Given the description of an element on the screen output the (x, y) to click on. 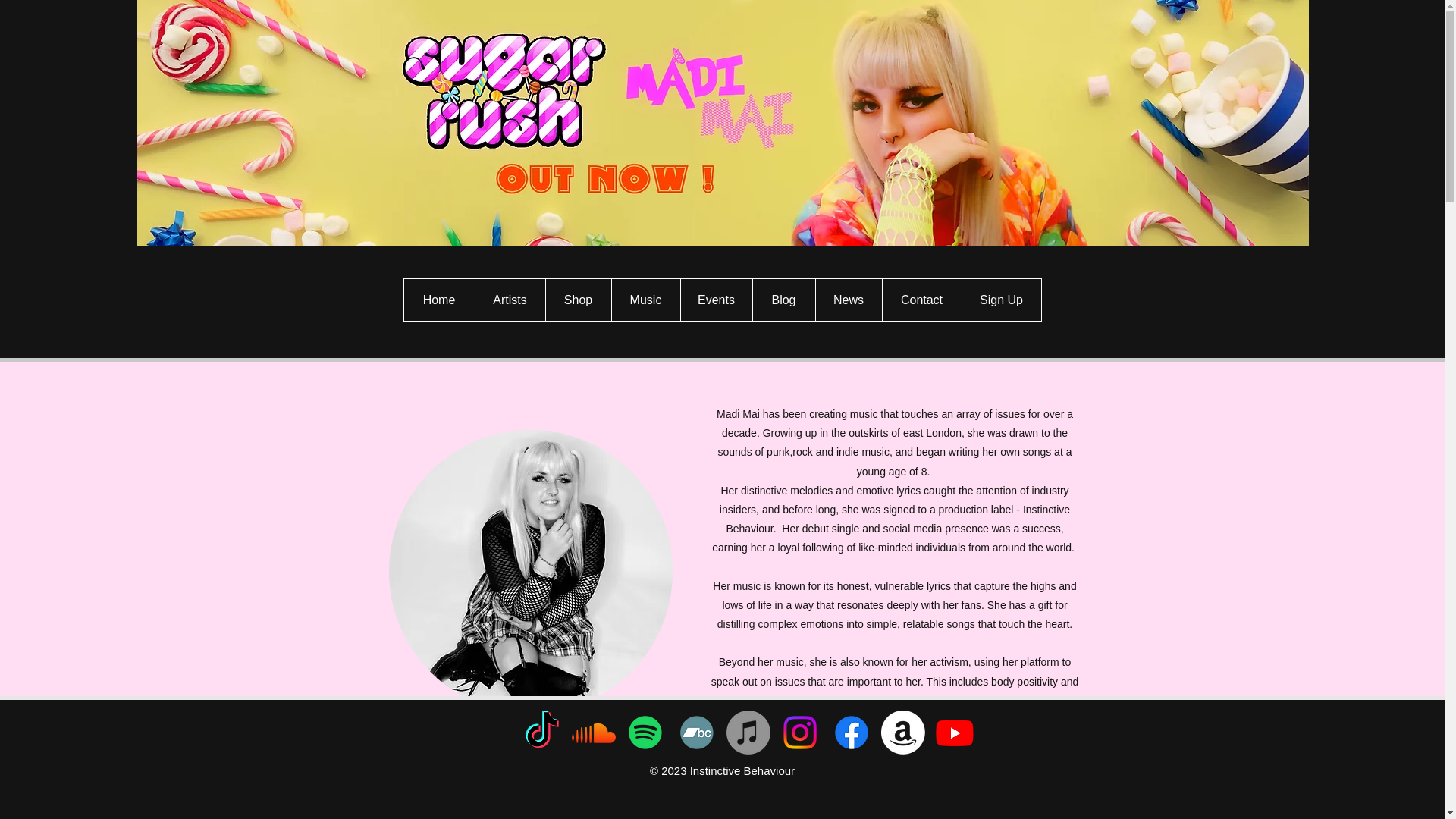
Blog (783, 300)
News (846, 300)
Events (715, 300)
Music (645, 300)
Contact (920, 300)
Sign Up (1000, 300)
Shop (577, 300)
Artists (509, 300)
Home (438, 300)
